Given the description of an element on the screen output the (x, y) to click on. 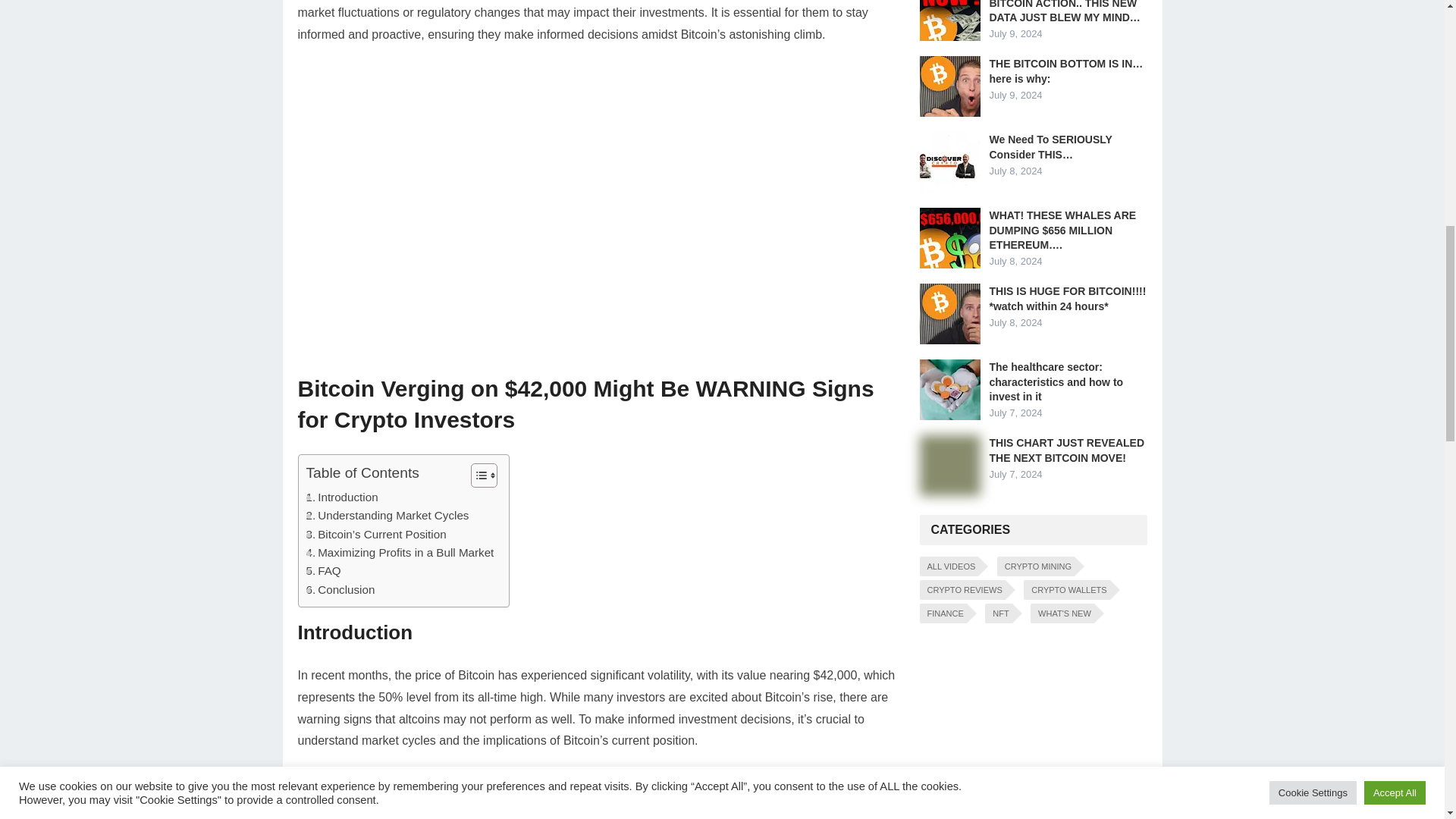
Conclusion (340, 589)
Understanding Market Cycles (386, 515)
Maximizing Profits in a Bull Market (400, 552)
Maximizing Profits in a Bull Market (400, 552)
FAQ (322, 570)
Understanding Market Cycles (386, 515)
Conclusion (340, 589)
FAQ (322, 570)
Introduction (341, 497)
Introduction (341, 497)
